Given the description of an element on the screen output the (x, y) to click on. 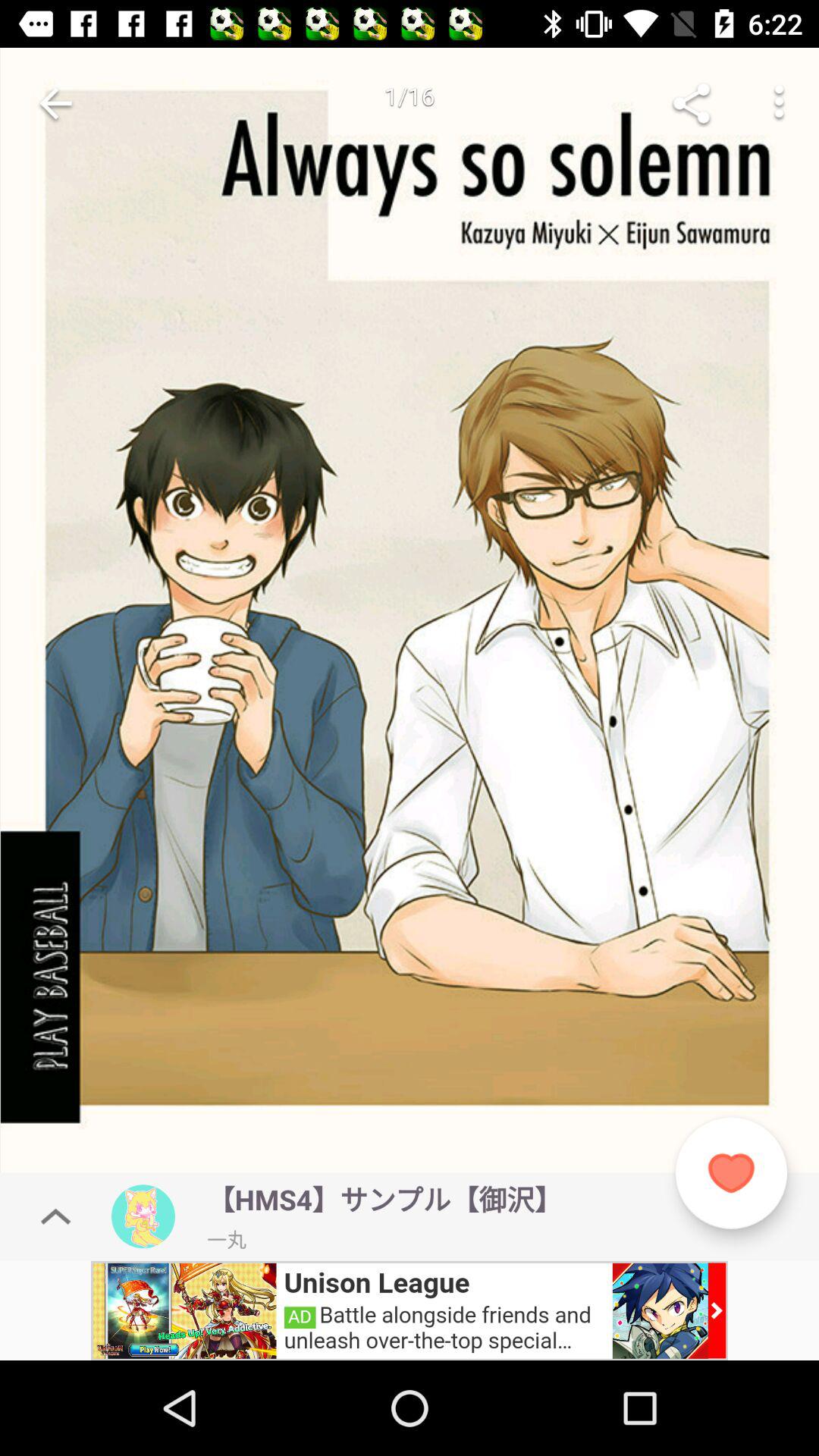
move up option (55, 1216)
